Given the description of an element on the screen output the (x, y) to click on. 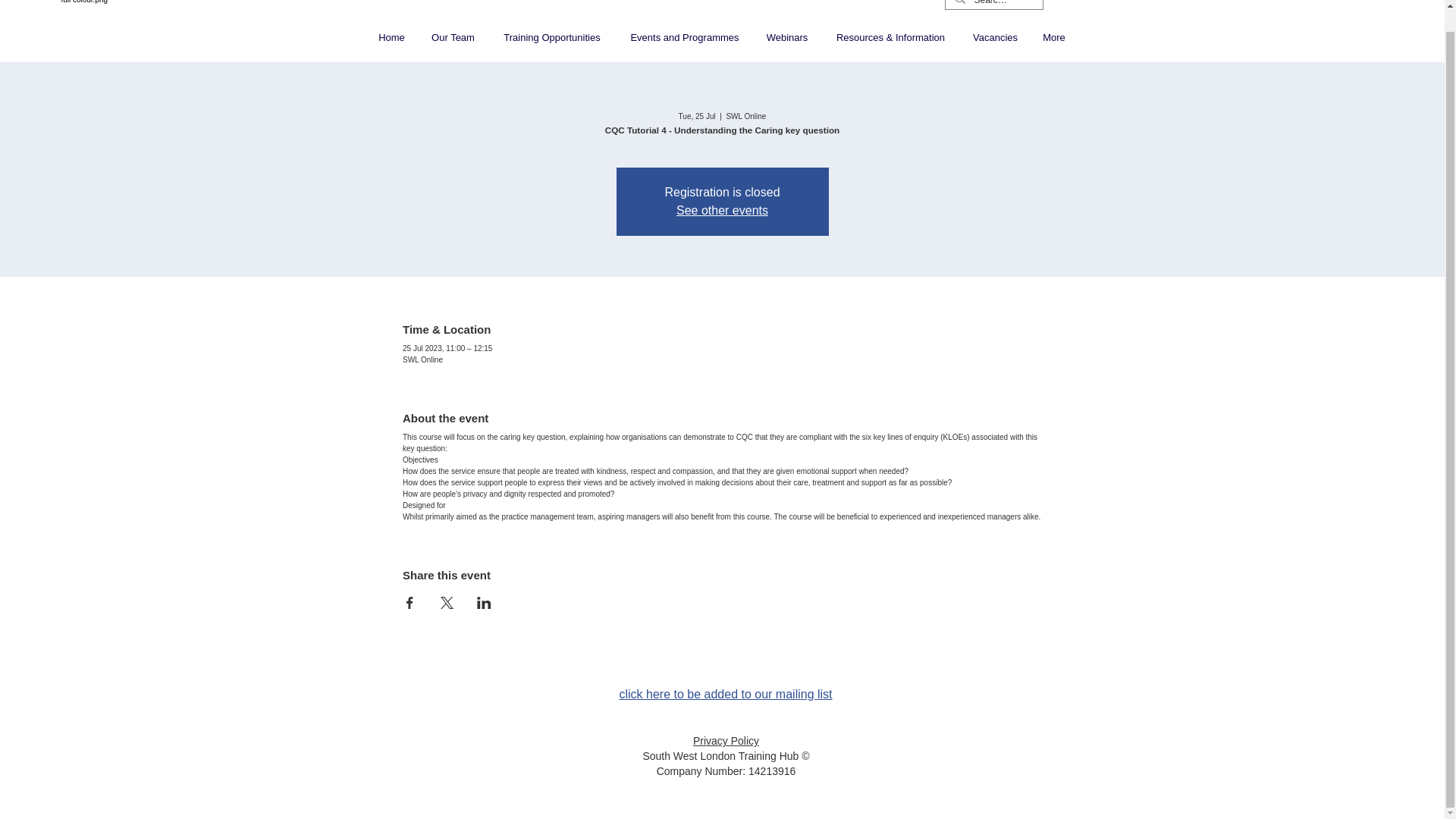
Home (392, 37)
Our Team (453, 37)
Training Opportunities (551, 37)
Events and Programmes (683, 37)
See other events (722, 210)
Webinars (787, 37)
